Given the description of an element on the screen output the (x, y) to click on. 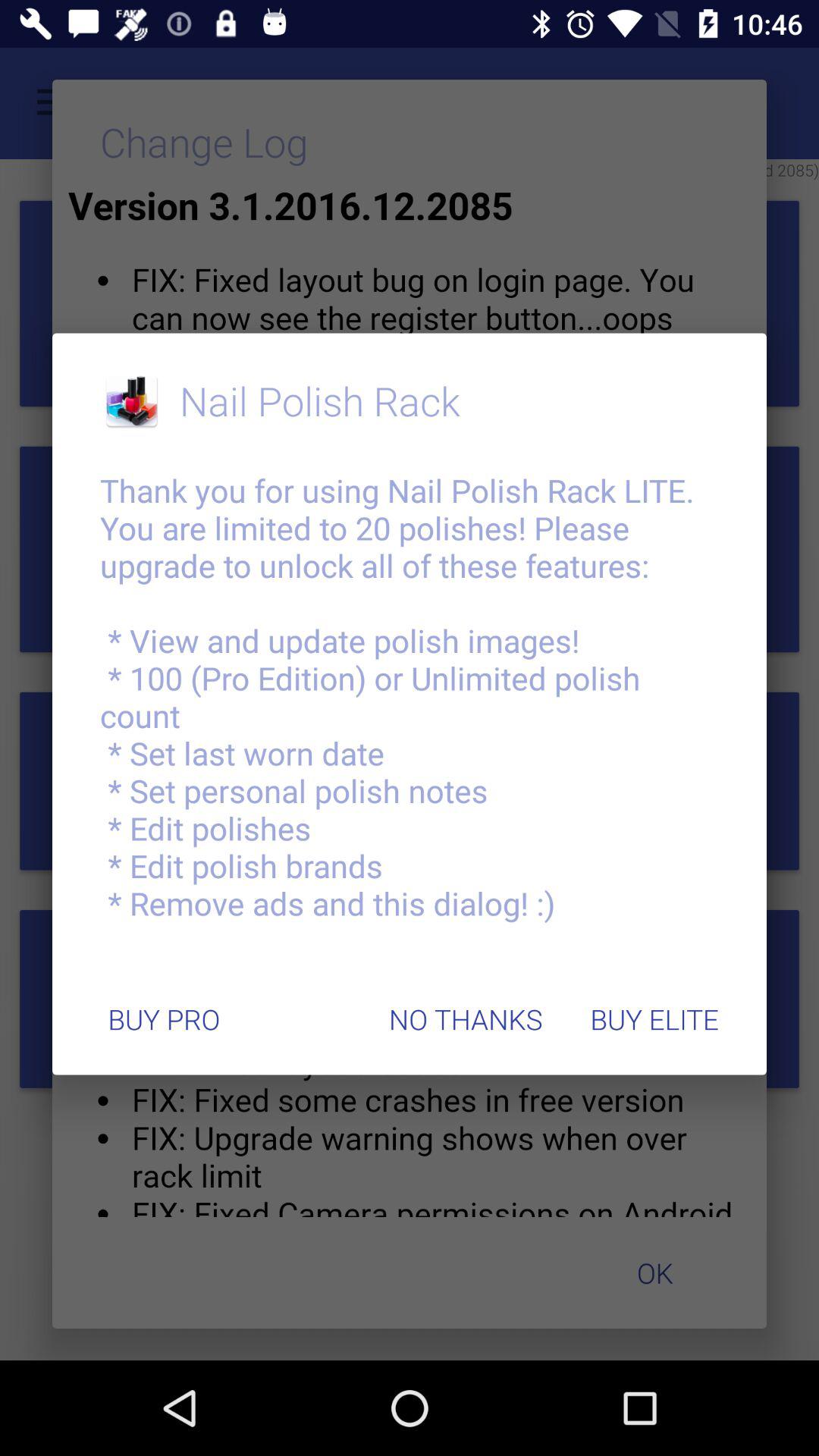
choose buy pro (163, 1018)
